Given the description of an element on the screen output the (x, y) to click on. 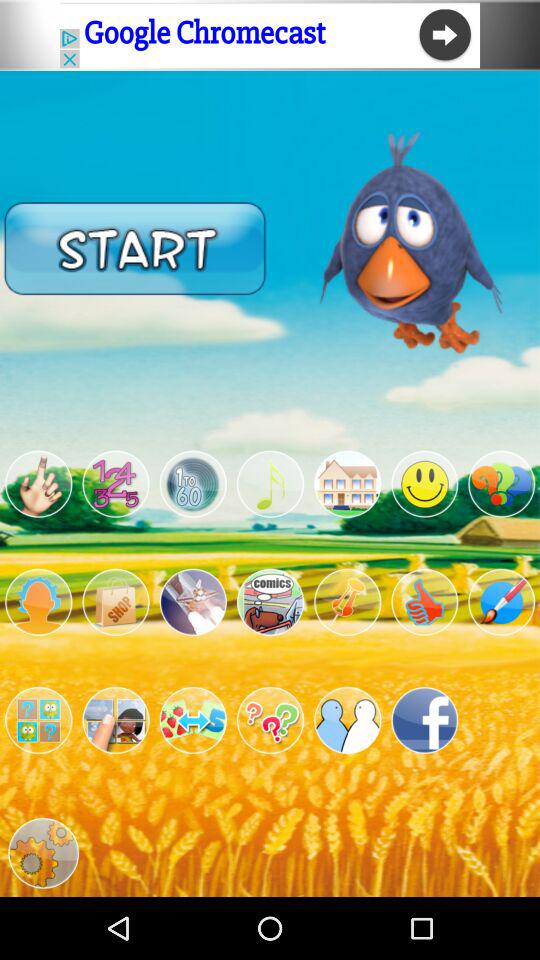
gender (38, 602)
